Given the description of an element on the screen output the (x, y) to click on. 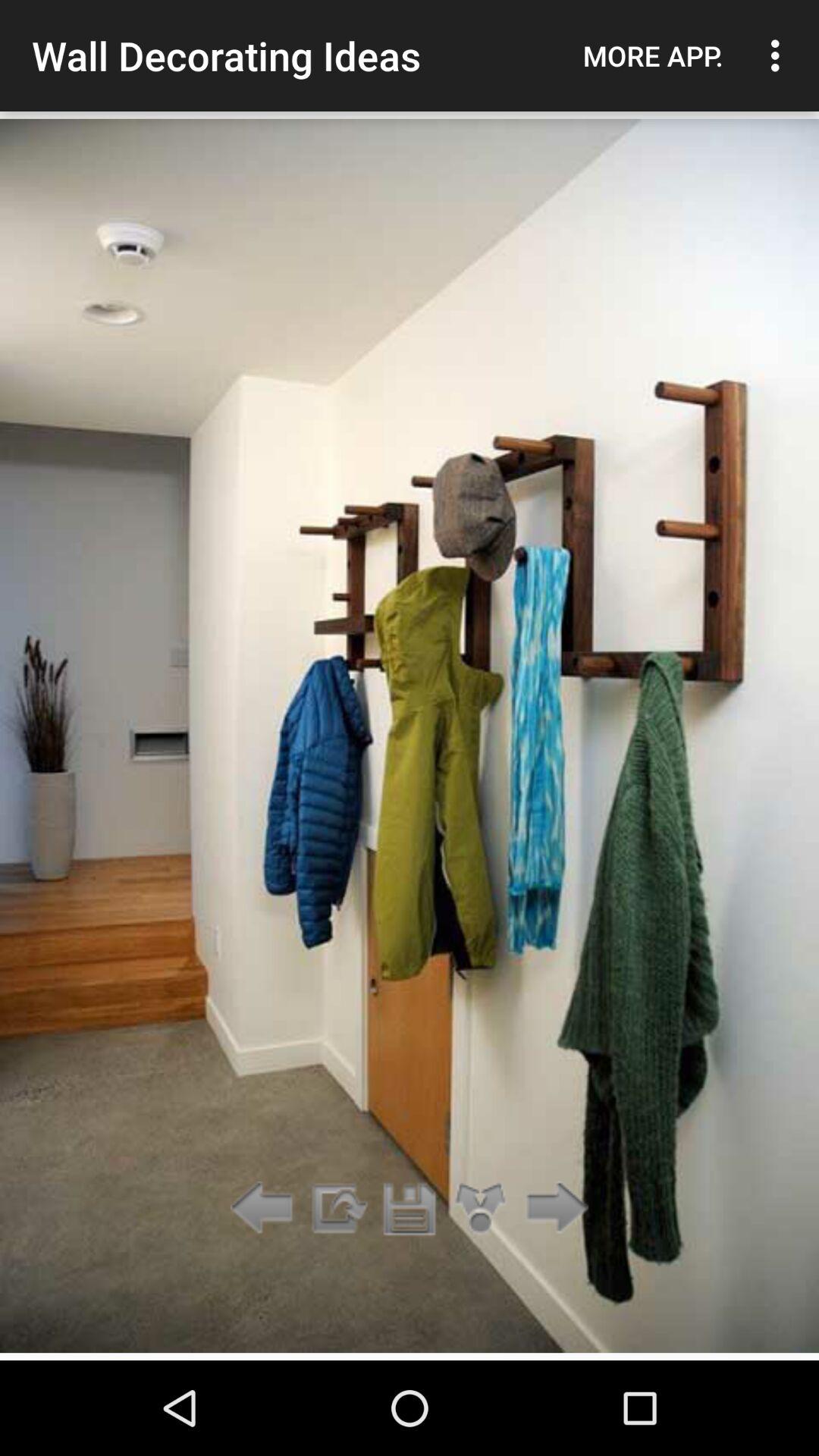
turn on icon to the right of wall decorating ideas (653, 55)
